Given the description of an element on the screen output the (x, y) to click on. 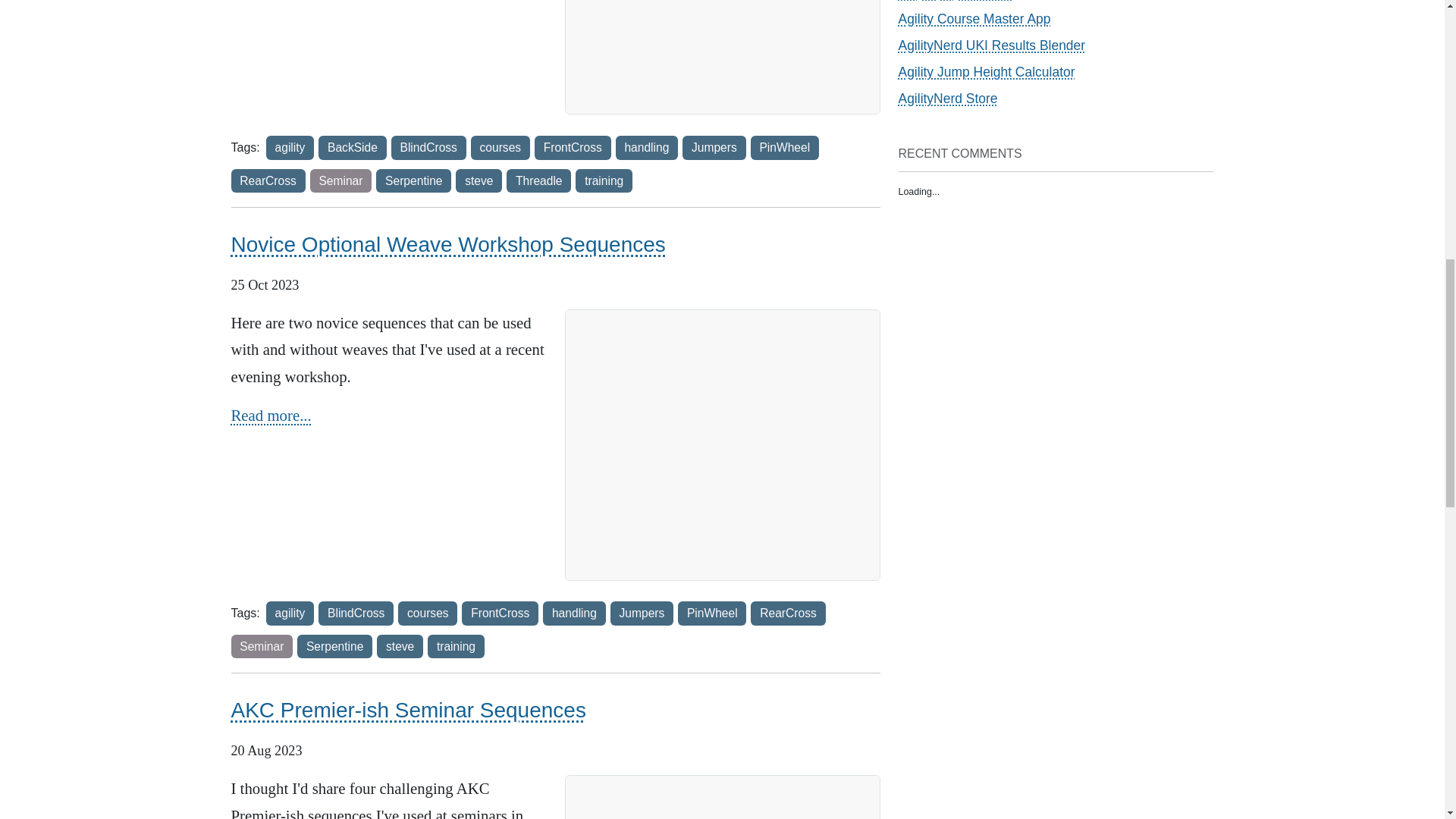
Read more... (270, 415)
FrontCross (499, 612)
BackSide (352, 147)
Serpentine (413, 180)
steve (478, 180)
courses (427, 612)
handling (573, 612)
FrontCross (572, 147)
PinWheel (783, 147)
store.agilitynerd.com (947, 98)
